Given the description of an element on the screen output the (x, y) to click on. 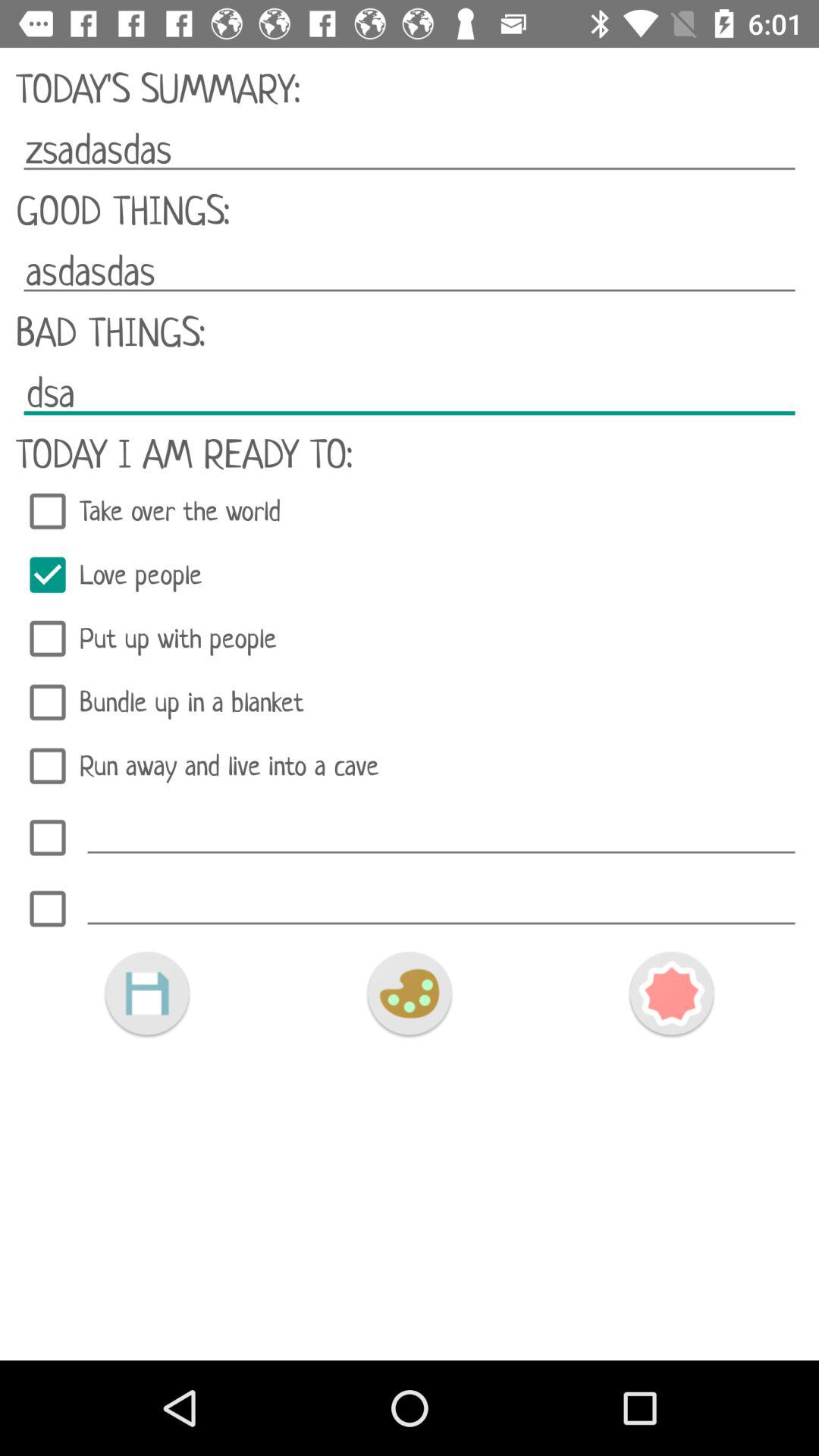
launch the item below love people (409, 638)
